Given the description of an element on the screen output the (x, y) to click on. 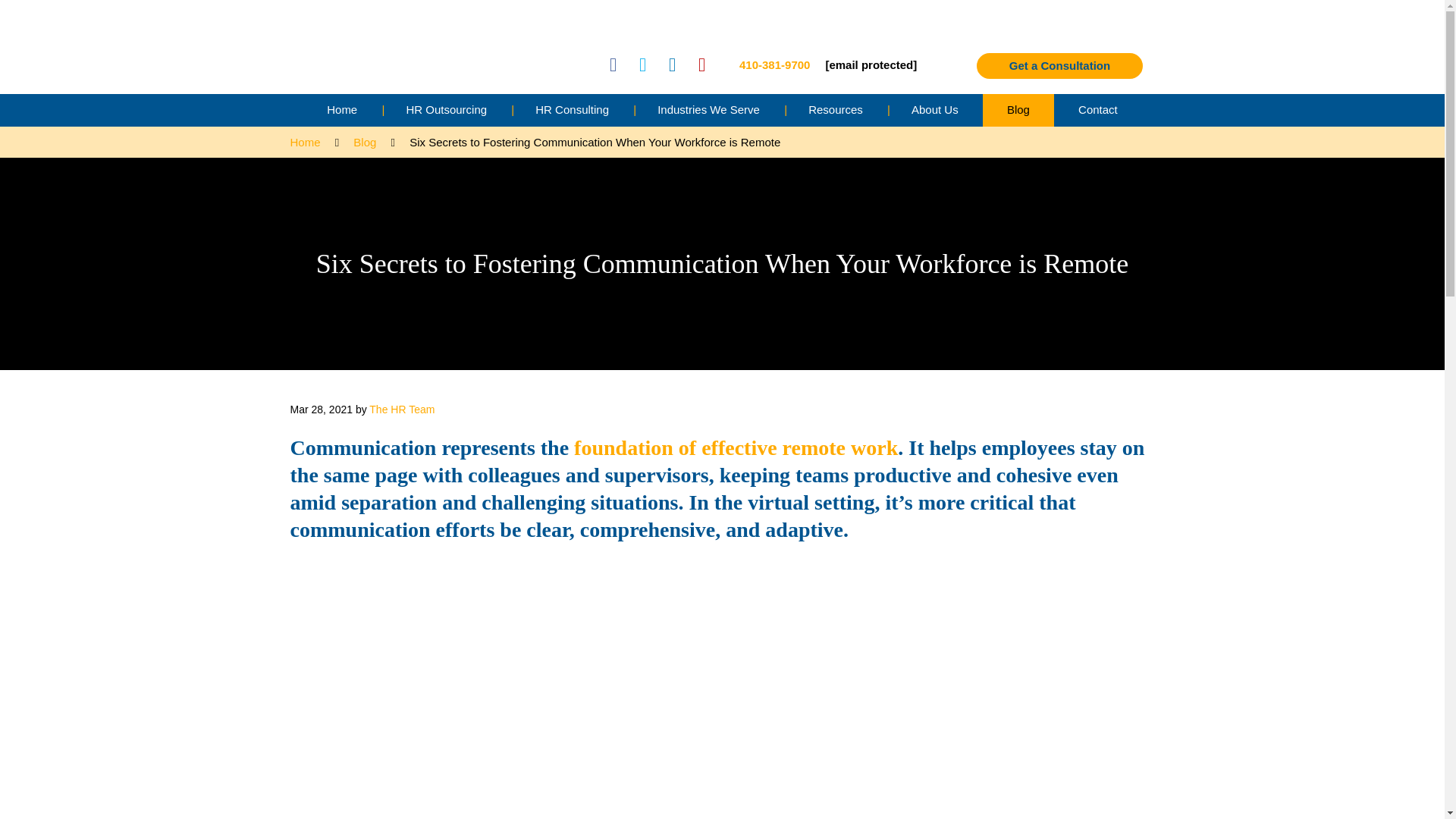
facebook (612, 64)
twitter (641, 64)
youtube (701, 64)
linkedin (672, 64)
